Given the description of an element on the screen output the (x, y) to click on. 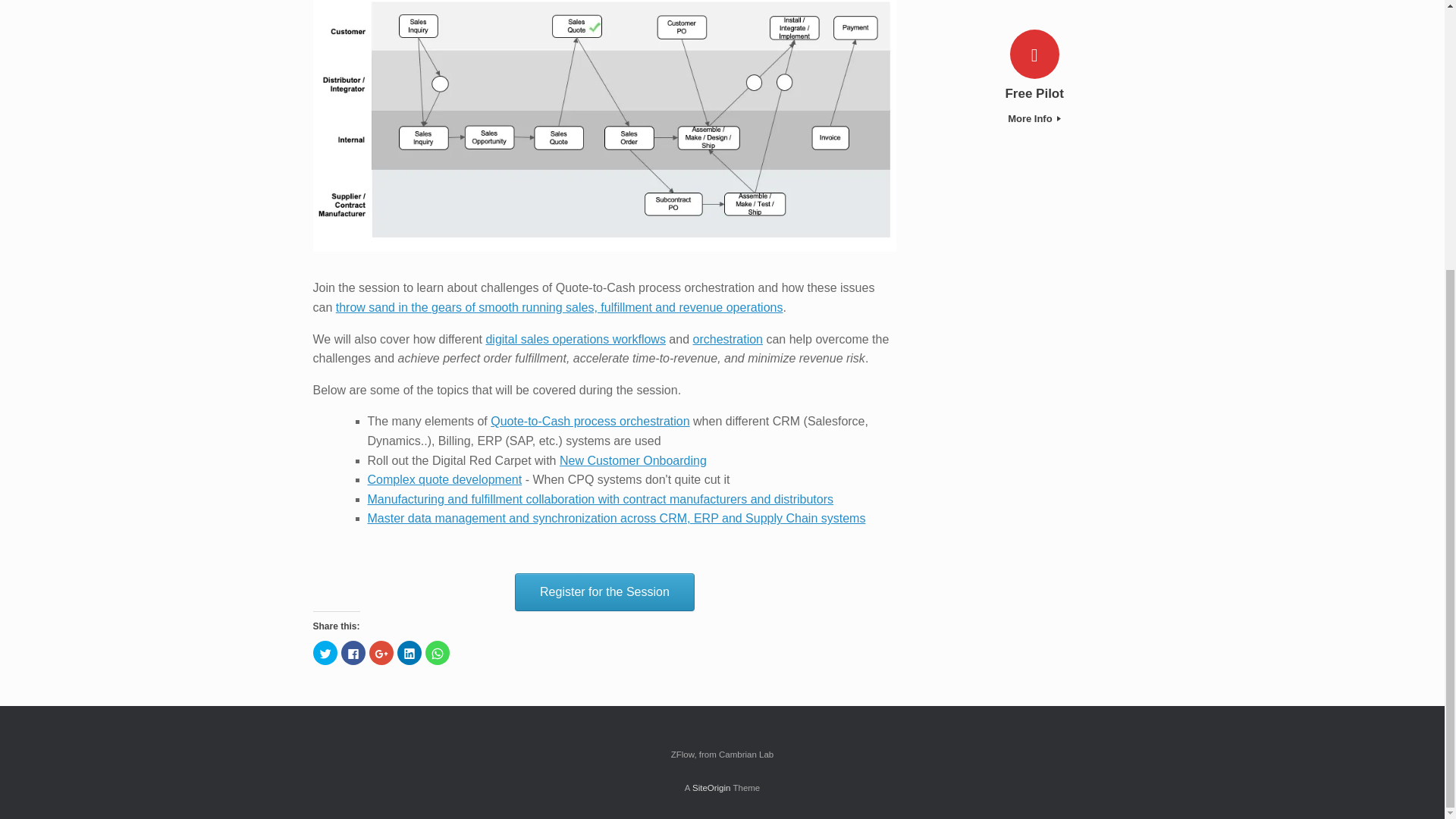
Click to share on LinkedIn (409, 652)
Click to share on WhatsApp (436, 652)
Click to share on Twitter (324, 652)
Click to share on Facebook (352, 652)
